Given the description of an element on the screen output the (x, y) to click on. 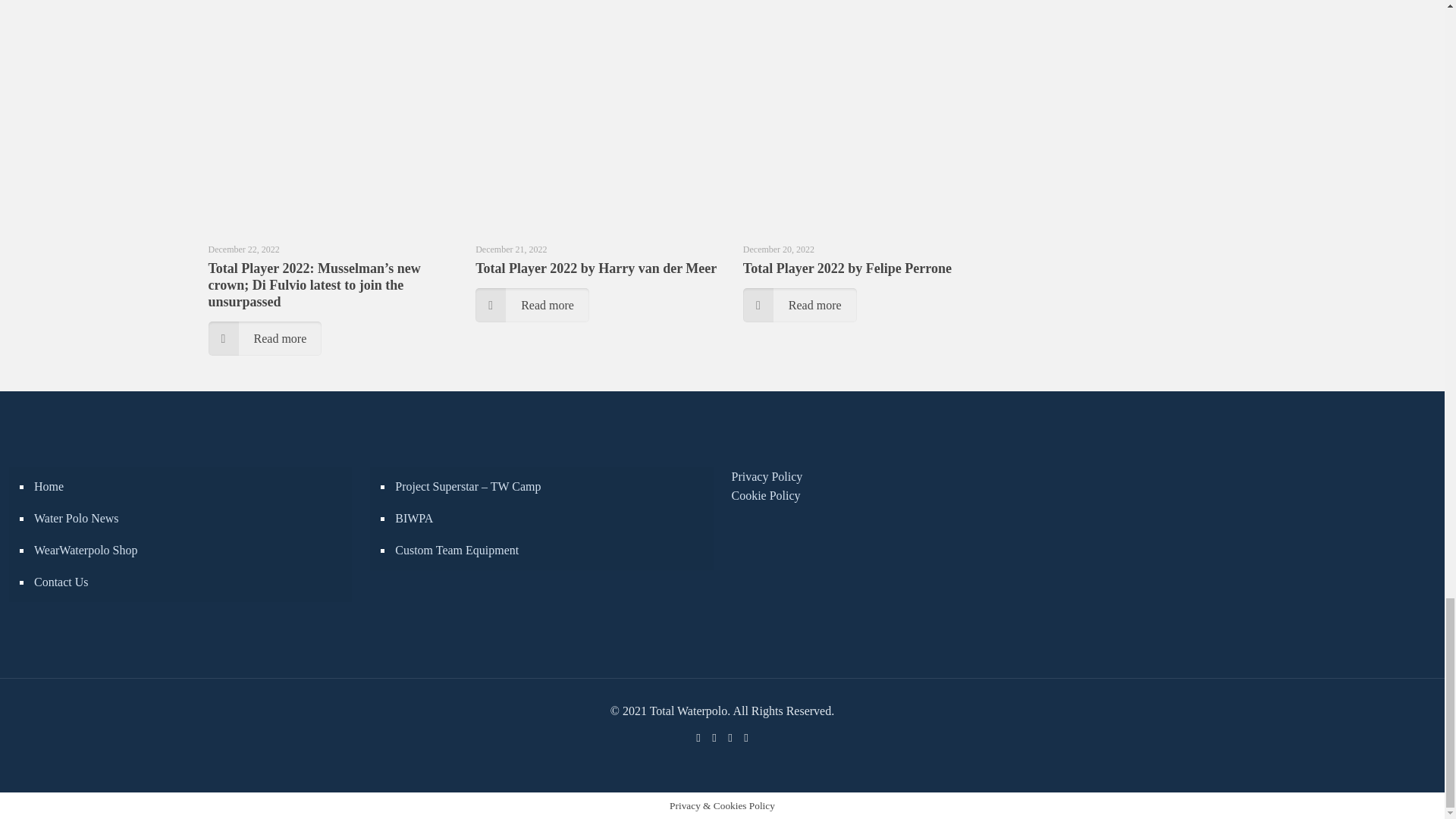
LinkedIn (730, 737)
Instagram (745, 737)
Cookie Policy  (764, 495)
Facebook (698, 737)
Privacy Policy  (766, 476)
